Given the description of an element on the screen output the (x, y) to click on. 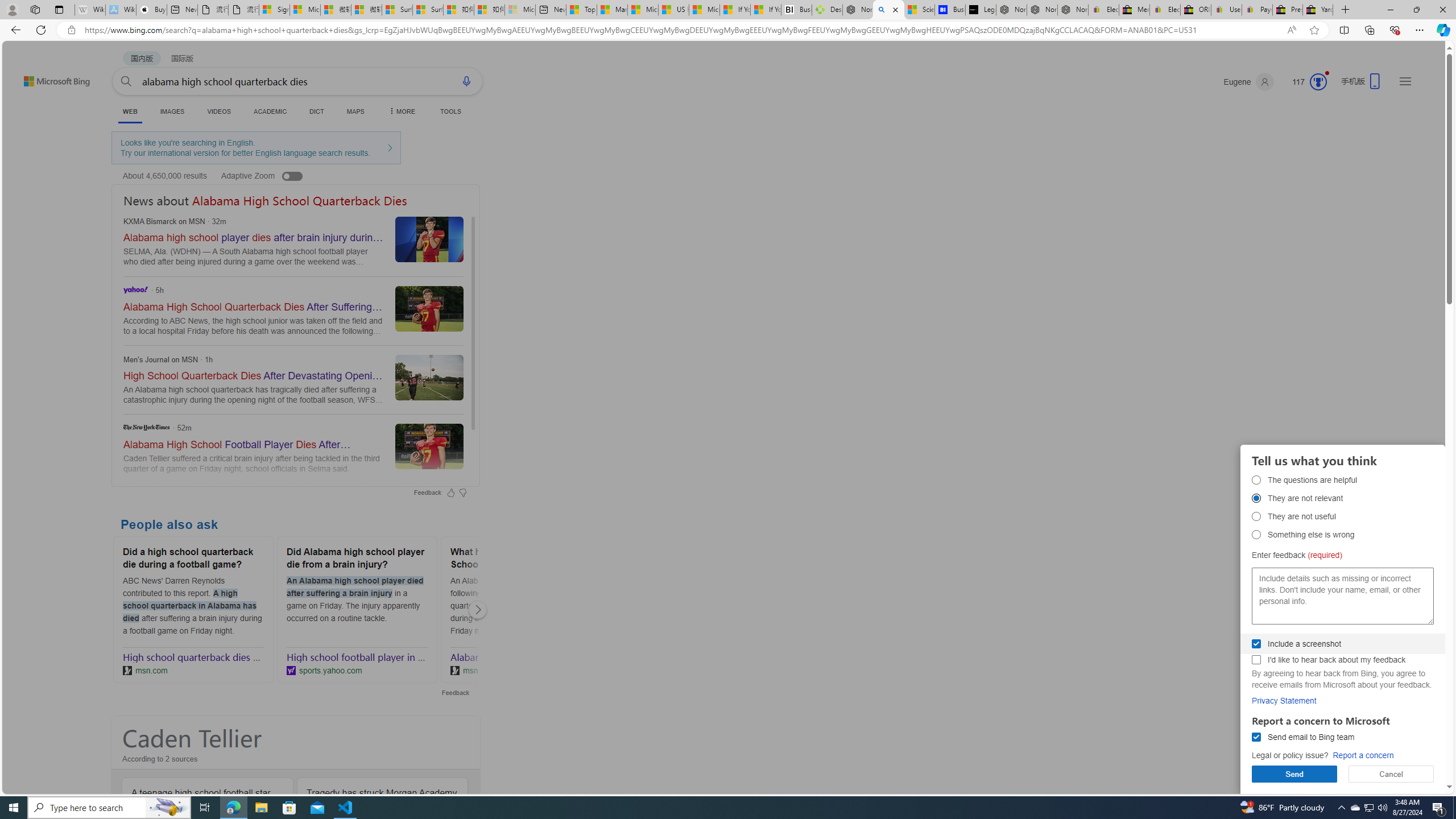
The questions are helpful The questions are helpful (1256, 479)
User Privacy Notice | eBay (1226, 9)
They are not useful They are not useful (1256, 515)
Marine life - MSN (611, 9)
AutomationID: fbpgdgSmtngWrong (1256, 533)
Something else is wrong Something else is wrong (1256, 533)
